Given the description of an element on the screen output the (x, y) to click on. 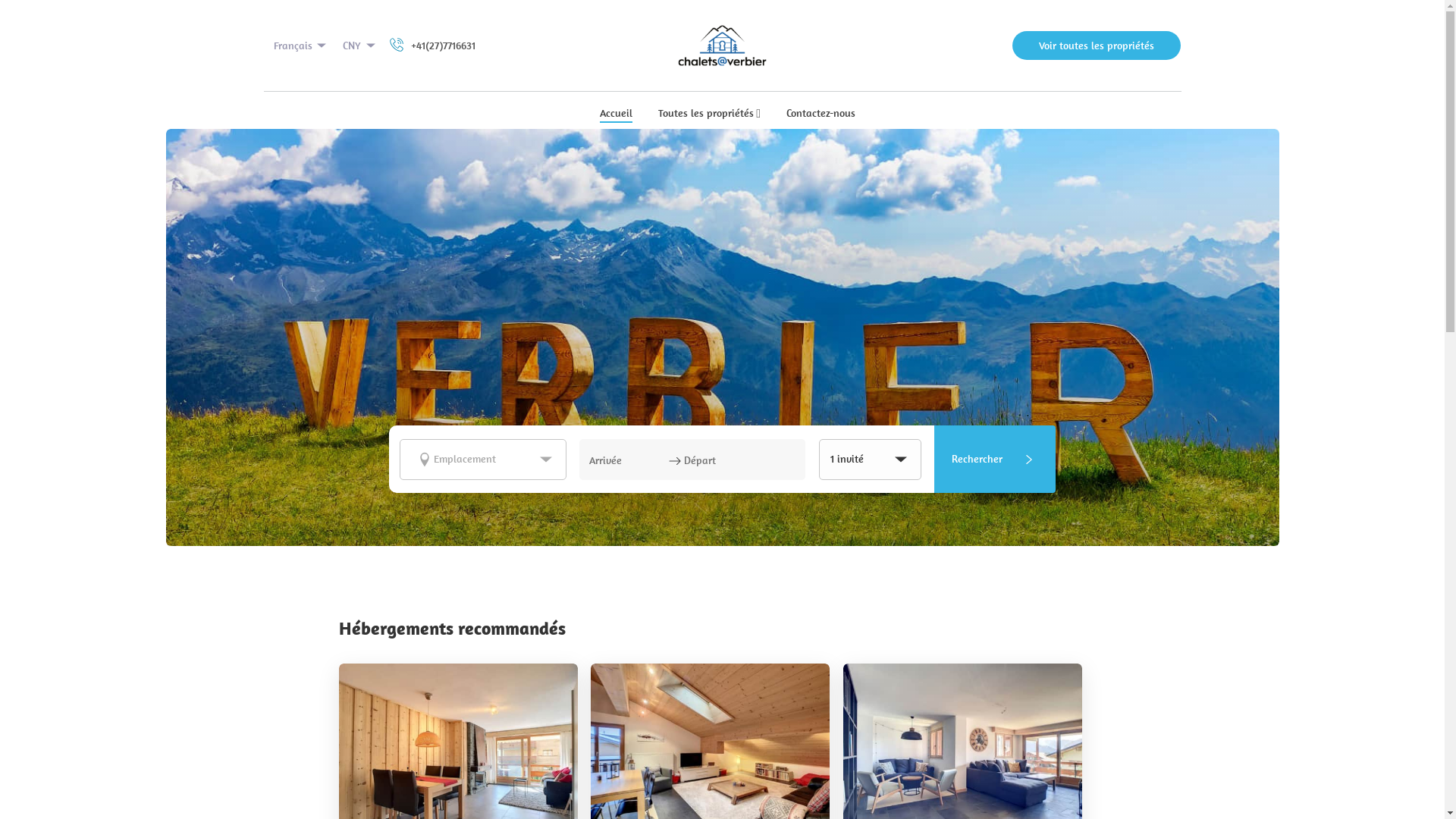
Accueil Element type: text (615, 114)
Emplacement Element type: text (482, 458)
Rechercher Element type: text (994, 458)
Contactez-nous Element type: text (820, 114)
+41(27)7716631 Element type: text (430, 45)
Image Title Element type: hover (721, 45)
CNY Element type: text (360, 45)
